Given the description of an element on the screen output the (x, y) to click on. 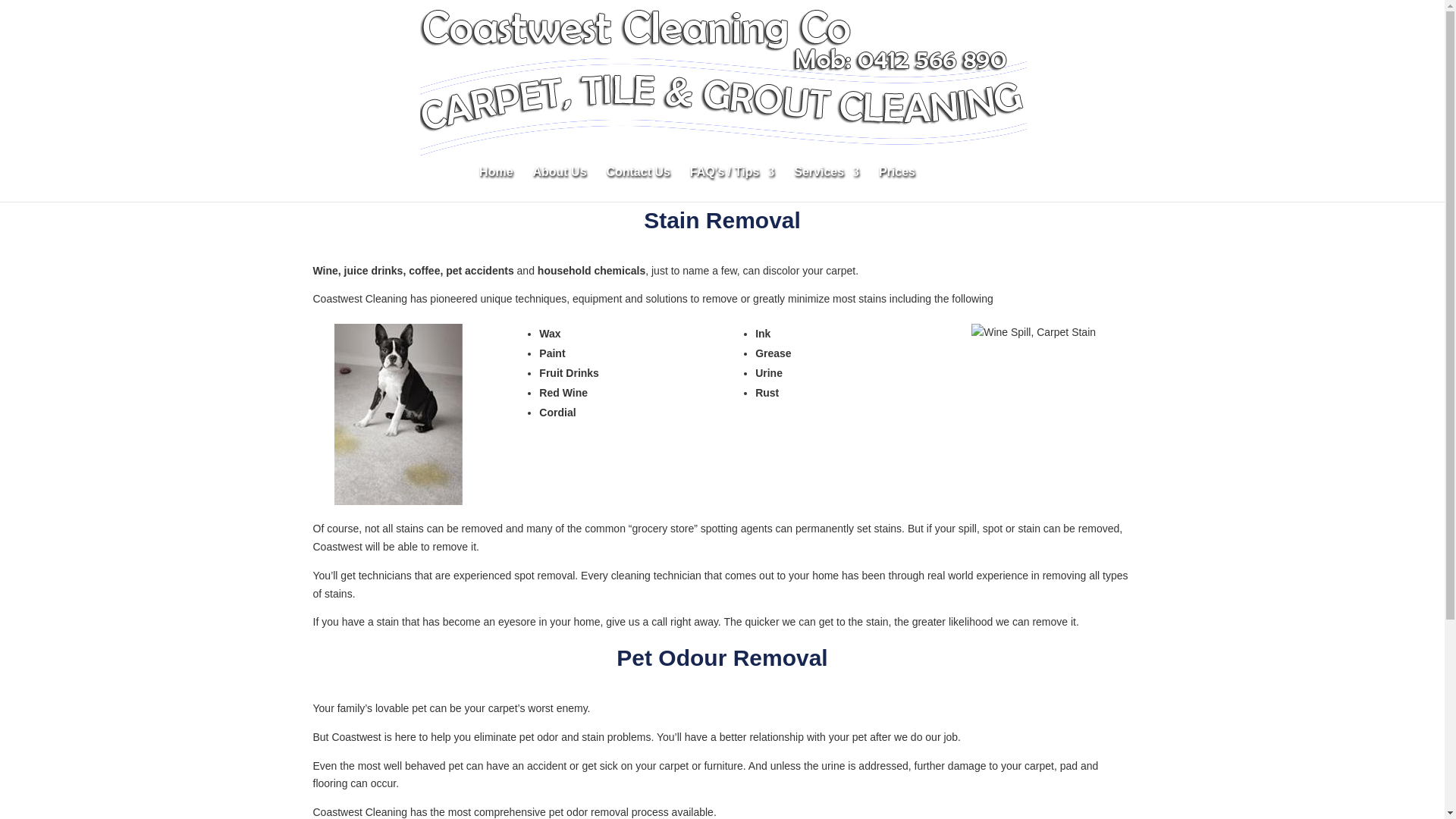
Services (826, 184)
Home (495, 184)
Facebook (949, 172)
About Us (559, 184)
Prices (897, 184)
Contact Us (637, 184)
